Given the description of an element on the screen output the (x, y) to click on. 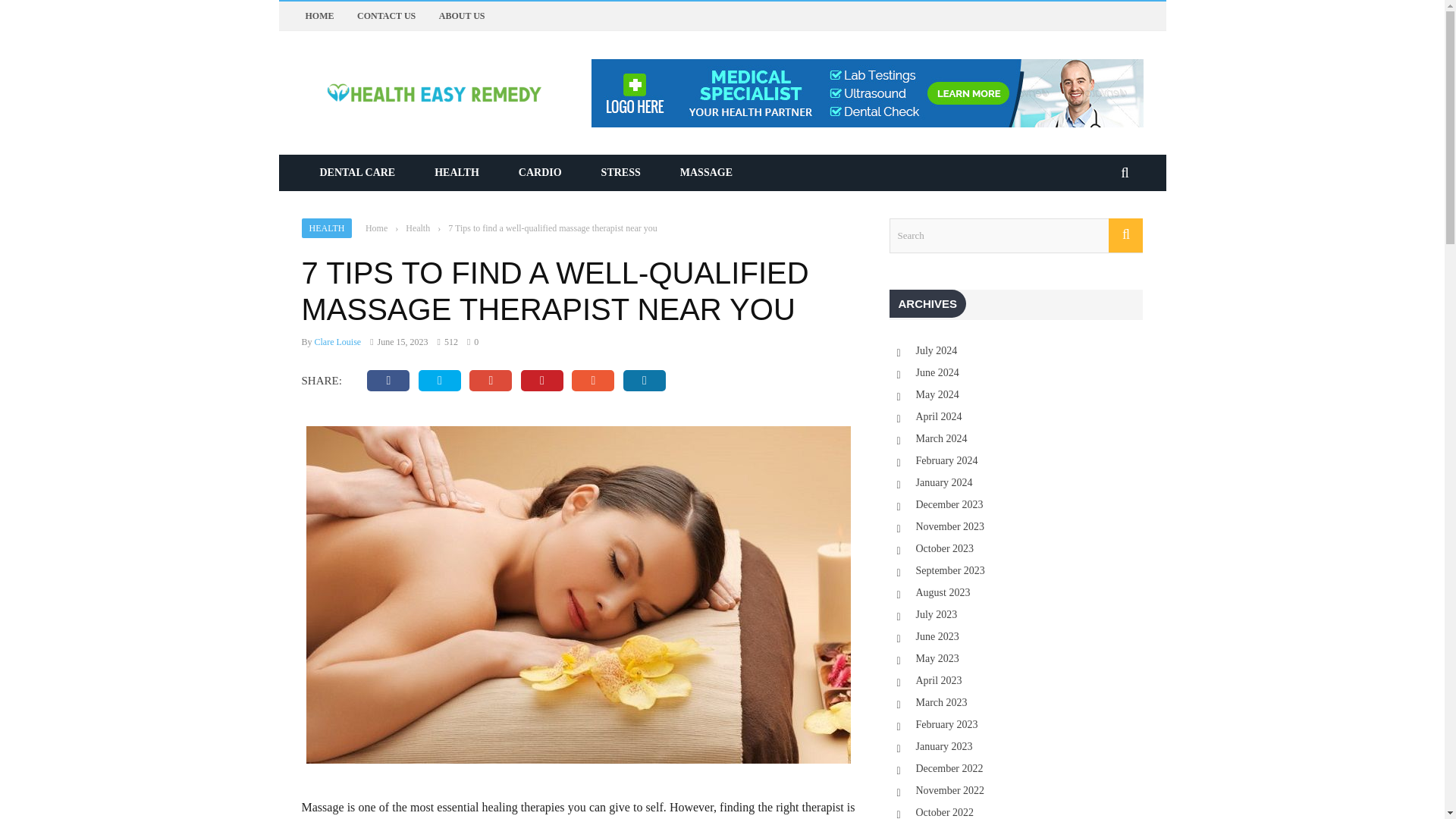
MASSAGE (706, 172)
HEALTH (326, 228)
CONTACT US (385, 15)
HEALTH (456, 172)
STRESS (621, 172)
ABOUT US (461, 15)
Health (417, 227)
Clare Louise (337, 341)
Home (376, 227)
HOME (318, 15)
CARDIO (539, 172)
DENTAL CARE (357, 172)
Search (1015, 235)
